Given the description of an element on the screen output the (x, y) to click on. 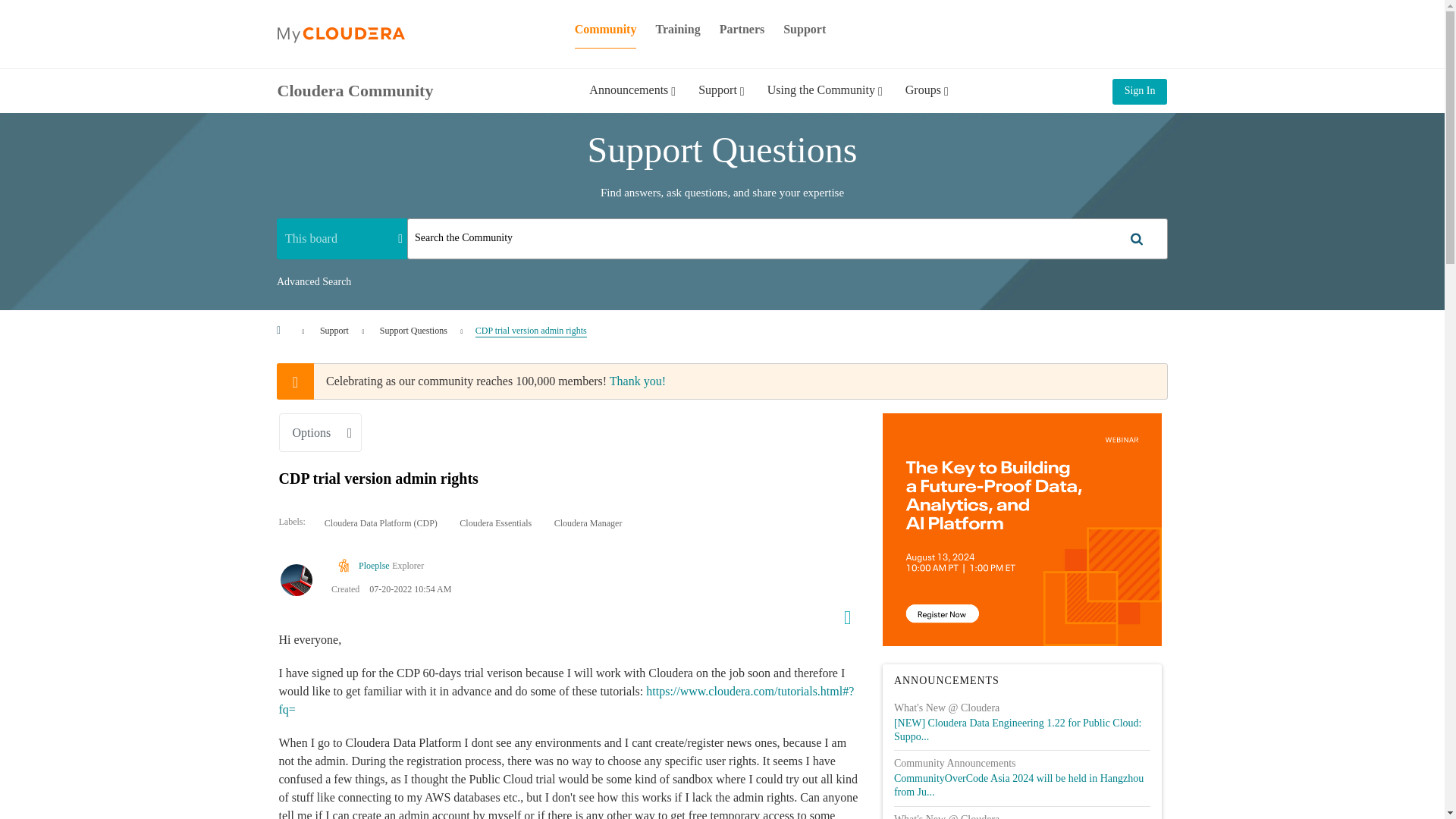
Search Granularity (342, 237)
Announcements (632, 100)
Community (606, 29)
Support (333, 330)
Using the Community (824, 100)
Thank you! (637, 380)
Show option menu (842, 614)
Support Questions (412, 330)
Groups (927, 100)
Advanced Search (313, 281)
Cloudera Community (355, 90)
Partners (742, 29)
Support (804, 29)
Support (721, 100)
Sign In (1139, 91)
